Given the description of an element on the screen output the (x, y) to click on. 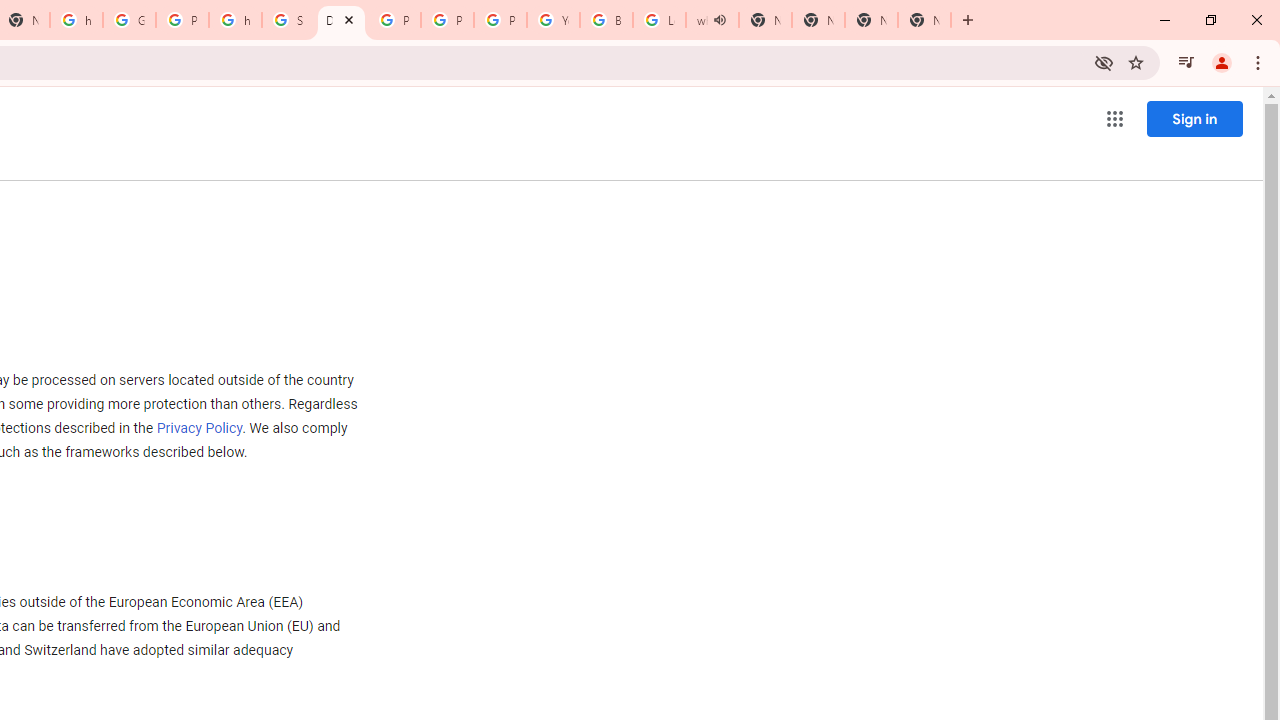
Sign in - Google Accounts (288, 20)
Privacy Help Center - Policies Help (394, 20)
New Tab (924, 20)
